Given the description of an element on the screen output the (x, y) to click on. 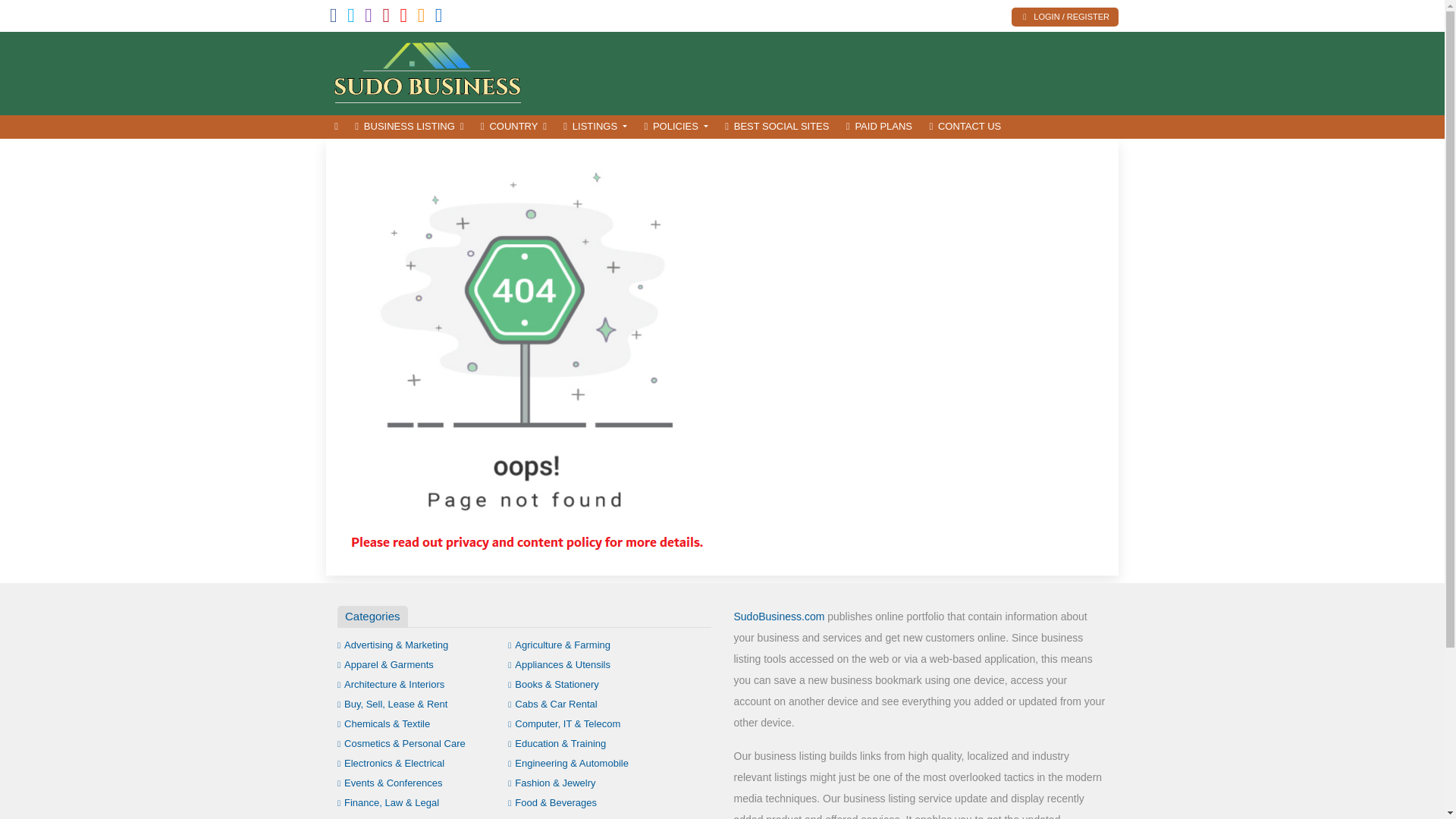
Online Portfolio Manager to Publish and Socialize Business (428, 71)
BUSINESS LISTING (408, 126)
COUNTRY (512, 126)
